Given the description of an element on the screen output the (x, y) to click on. 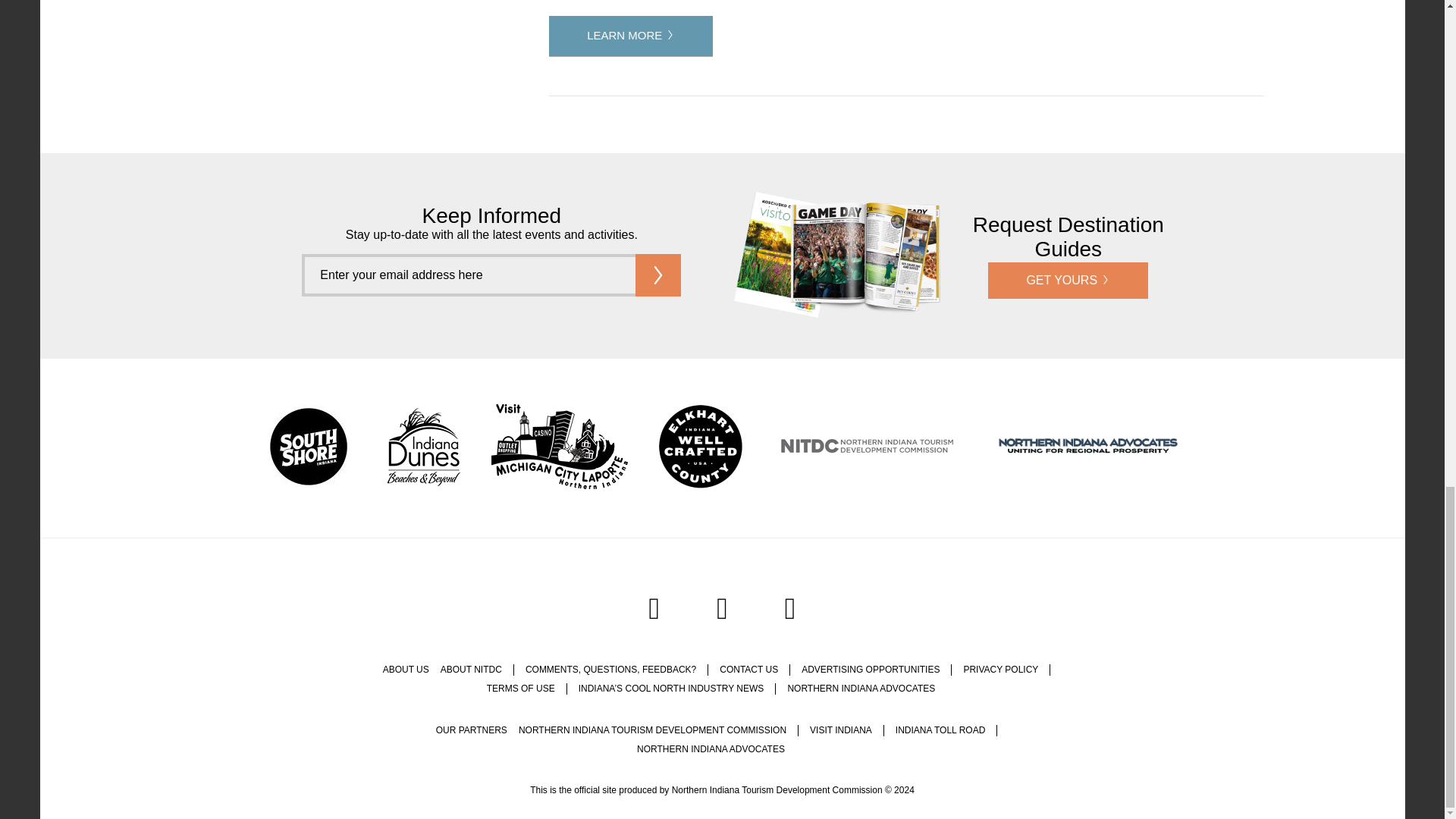
Visit Michigan City LaPorte (559, 448)
Enter your email address here (467, 274)
Indiana Dunes (423, 448)
